Given the description of an element on the screen output the (x, y) to click on. 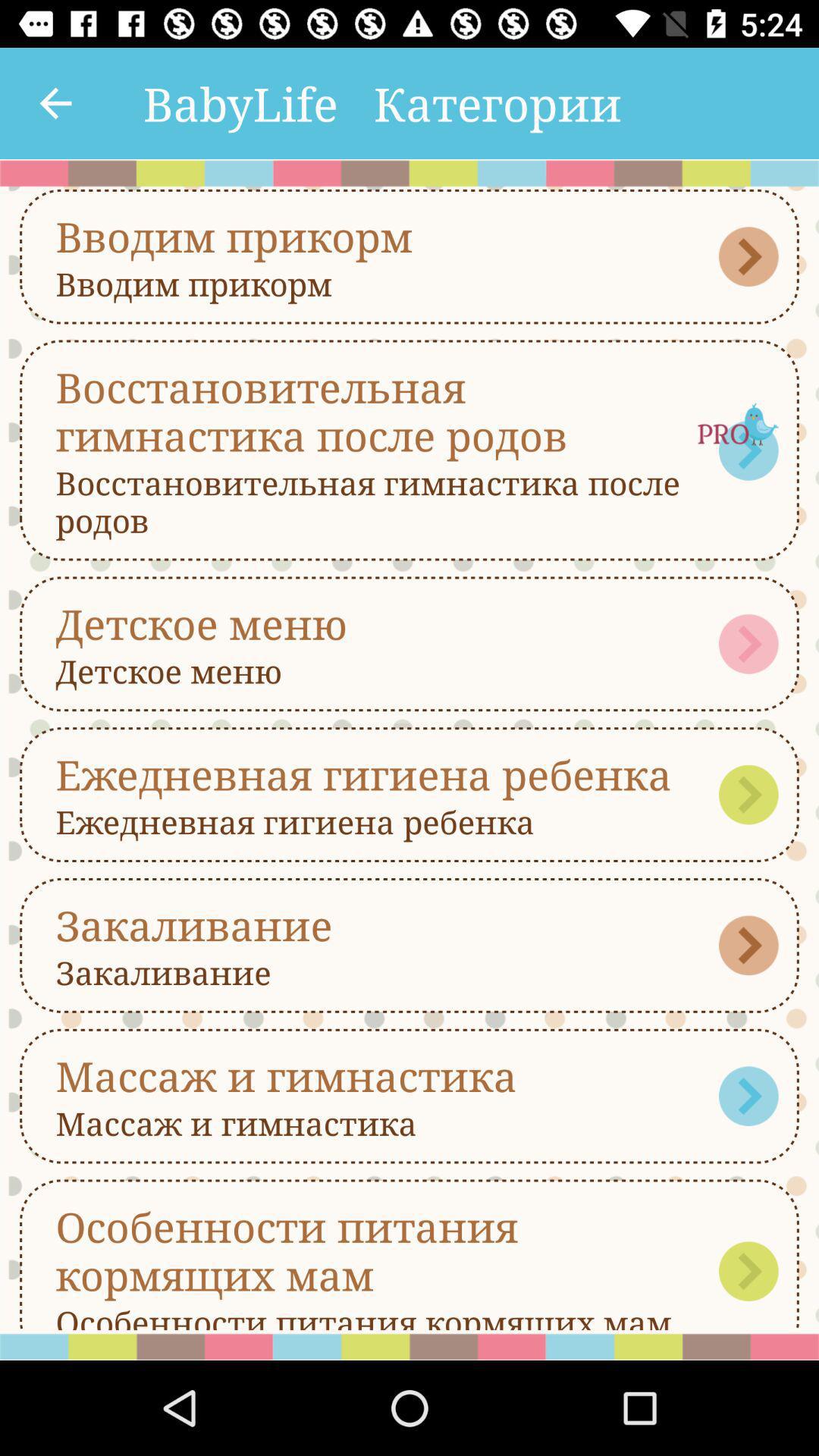
launch the icon next to the babylife item (55, 103)
